Given the description of an element on the screen output the (x, y) to click on. 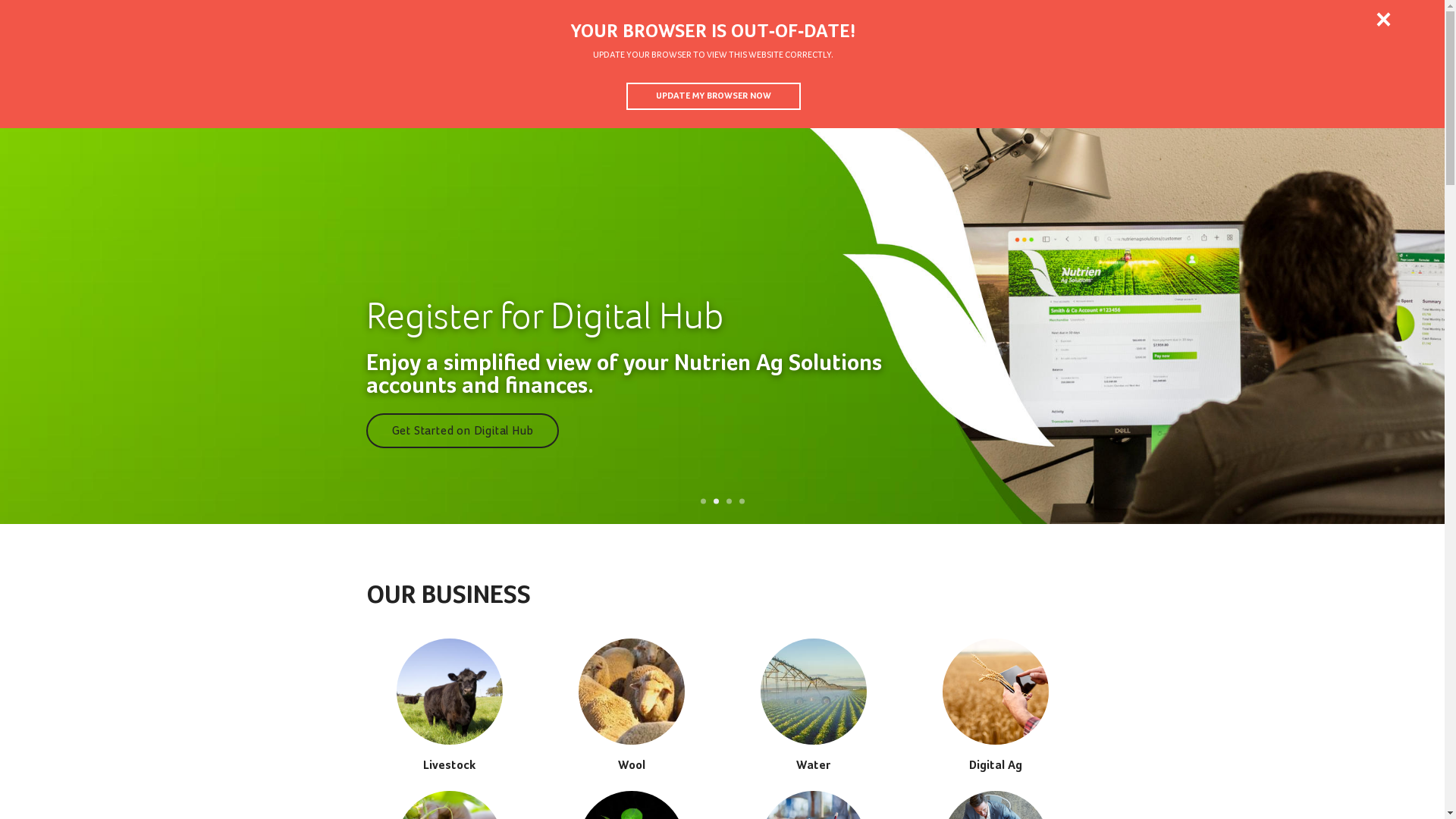
2 Element type: text (715, 501)
Finance Element type: text (1251, 75)
Clearing Sale Element type: text (1398, 75)
Digital Ag Element type: text (994, 704)
4 Element type: text (740, 501)
Careers Element type: text (1184, 18)
About Us Element type: text (1104, 18)
Water Element type: text (812, 704)
Wool Element type: text (630, 704)
Water Element type: text (918, 75)
Insurance Element type: text (1170, 75)
Find a branch Element type: text (1359, 18)
3 Element type: text (728, 501)
Read more Element type: text (419, 431)
Our Range Element type: text (1082, 75)
Livestock Element type: text (448, 704)
Login to MyNutrien Element type: text (226, 18)
Livestock Element type: text (777, 75)
UPDATE MY BROWSER NOW Element type: text (713, 95)
Wool Element type: text (852, 75)
1 Element type: text (703, 501)
Digital Ag Element type: text (995, 75)
Login to Digital Hub Element type: text (81, 18)
Real Estate Element type: text (1324, 75)
